Given the description of an element on the screen output the (x, y) to click on. 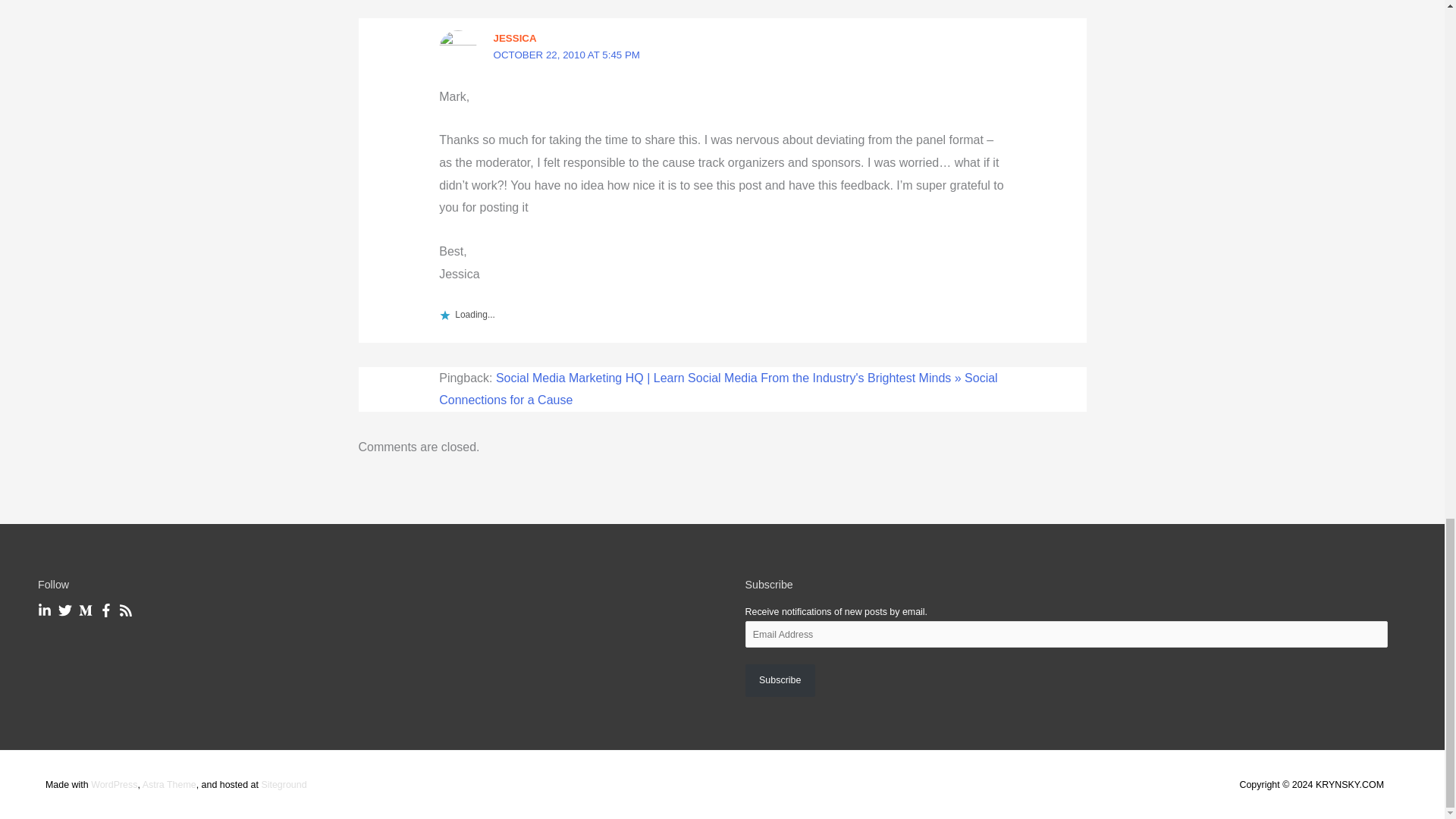
WordPress (113, 784)
Siteground (282, 784)
Astra Theme (169, 784)
Subscribe (778, 680)
OCTOBER 22, 2010 AT 5:45 PM (566, 54)
